Given the description of an element on the screen output the (x, y) to click on. 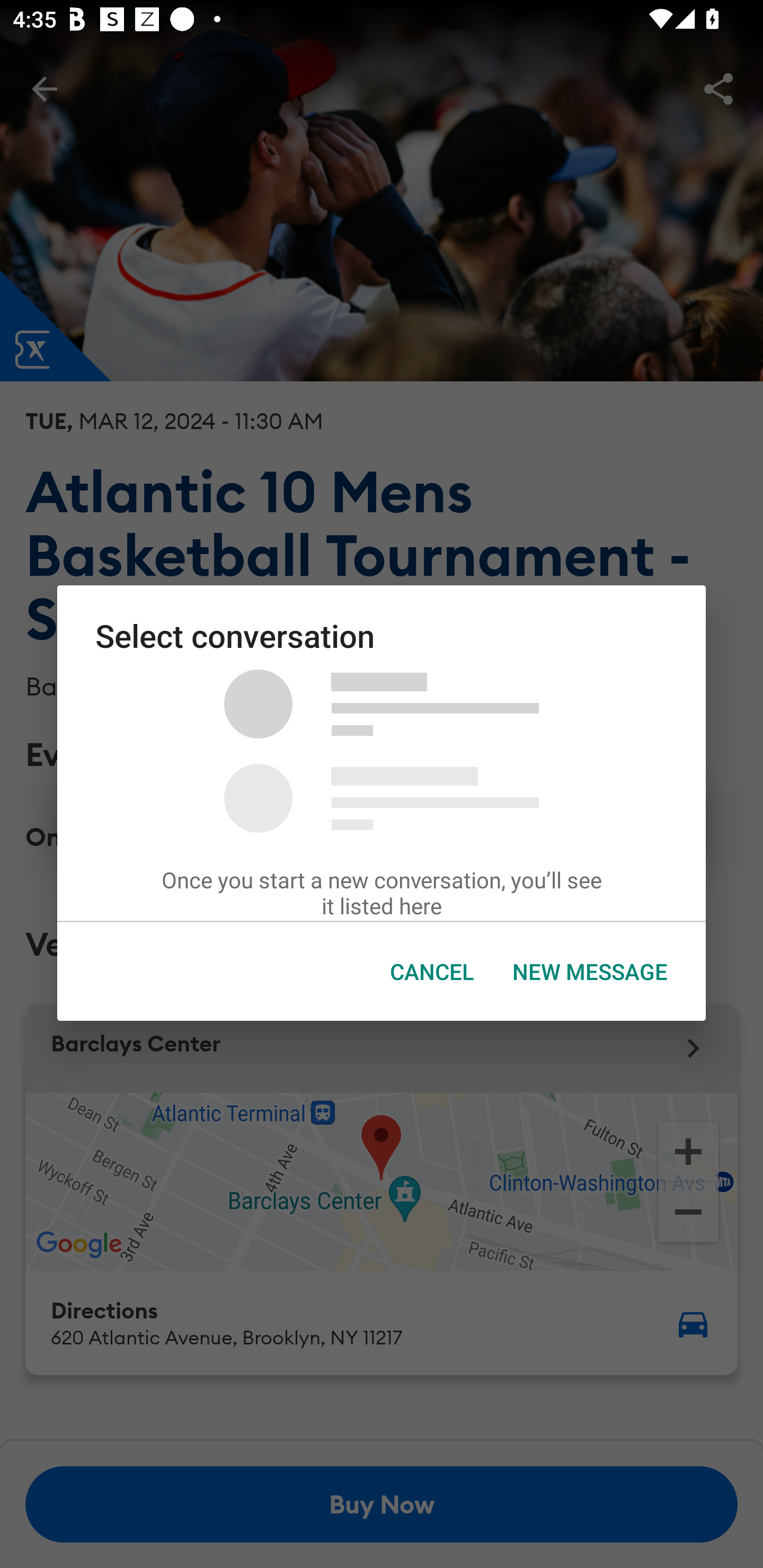
CANCEL (431, 971)
NEW MESSAGE (589, 971)
